Given the description of an element on the screen output the (x, y) to click on. 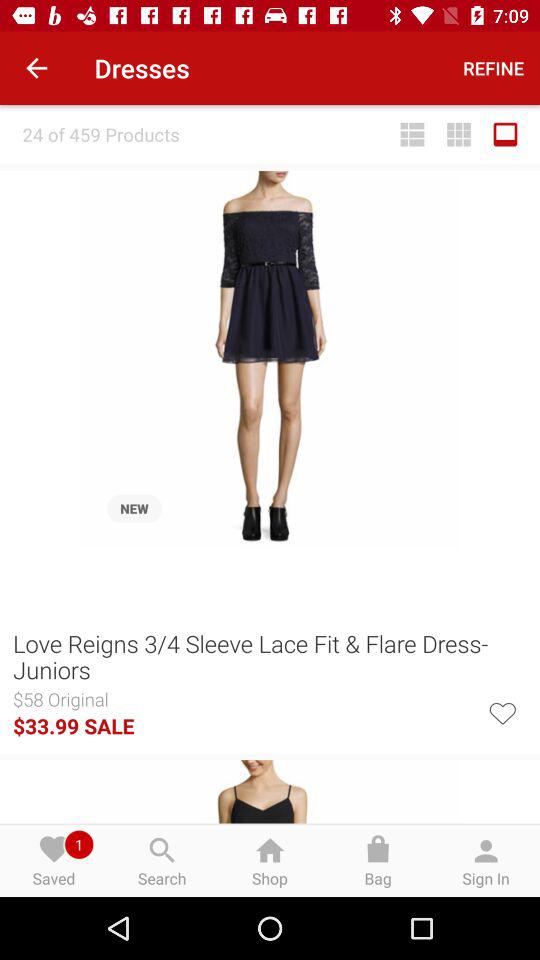
tap the icon below the love reigns 3 icon (501, 711)
